Given the description of an element on the screen output the (x, y) to click on. 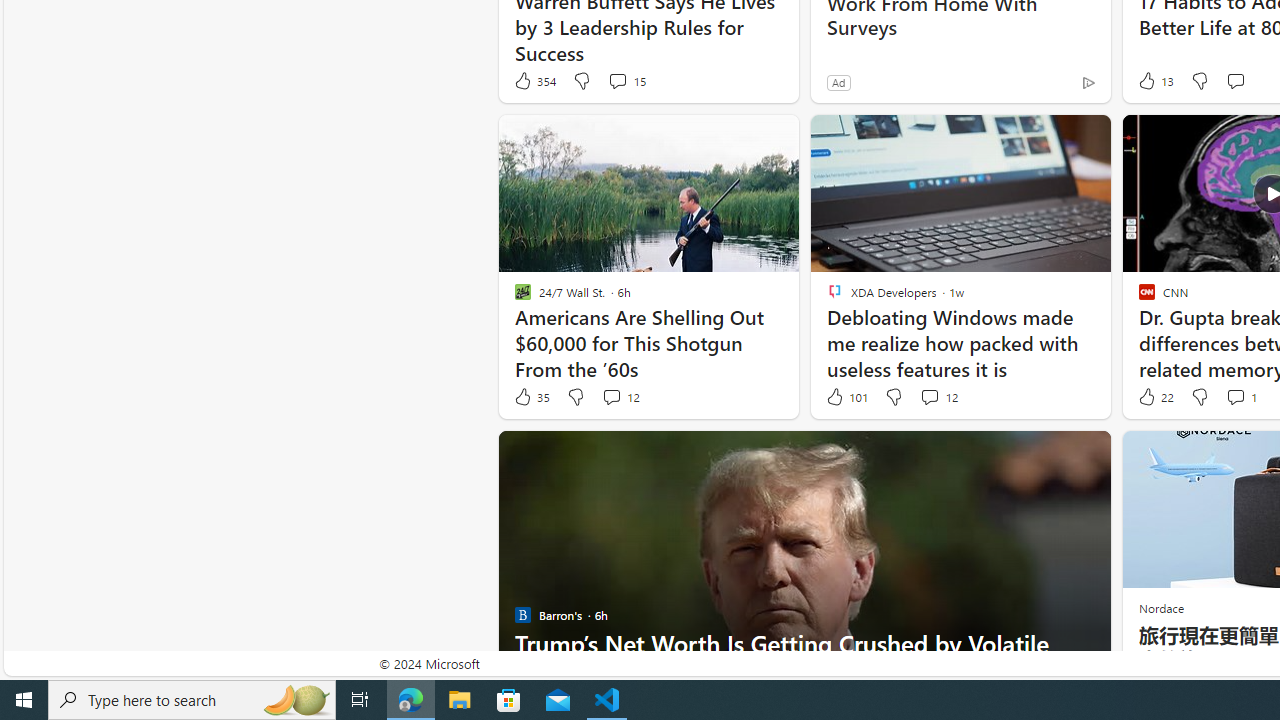
354 Like (534, 80)
13 Like (1154, 80)
View comments 12 Comment (929, 396)
Hide this story (1050, 454)
View comments 15 Comment (617, 80)
22 Like (1154, 397)
35 Like (531, 397)
